Given the description of an element on the screen output the (x, y) to click on. 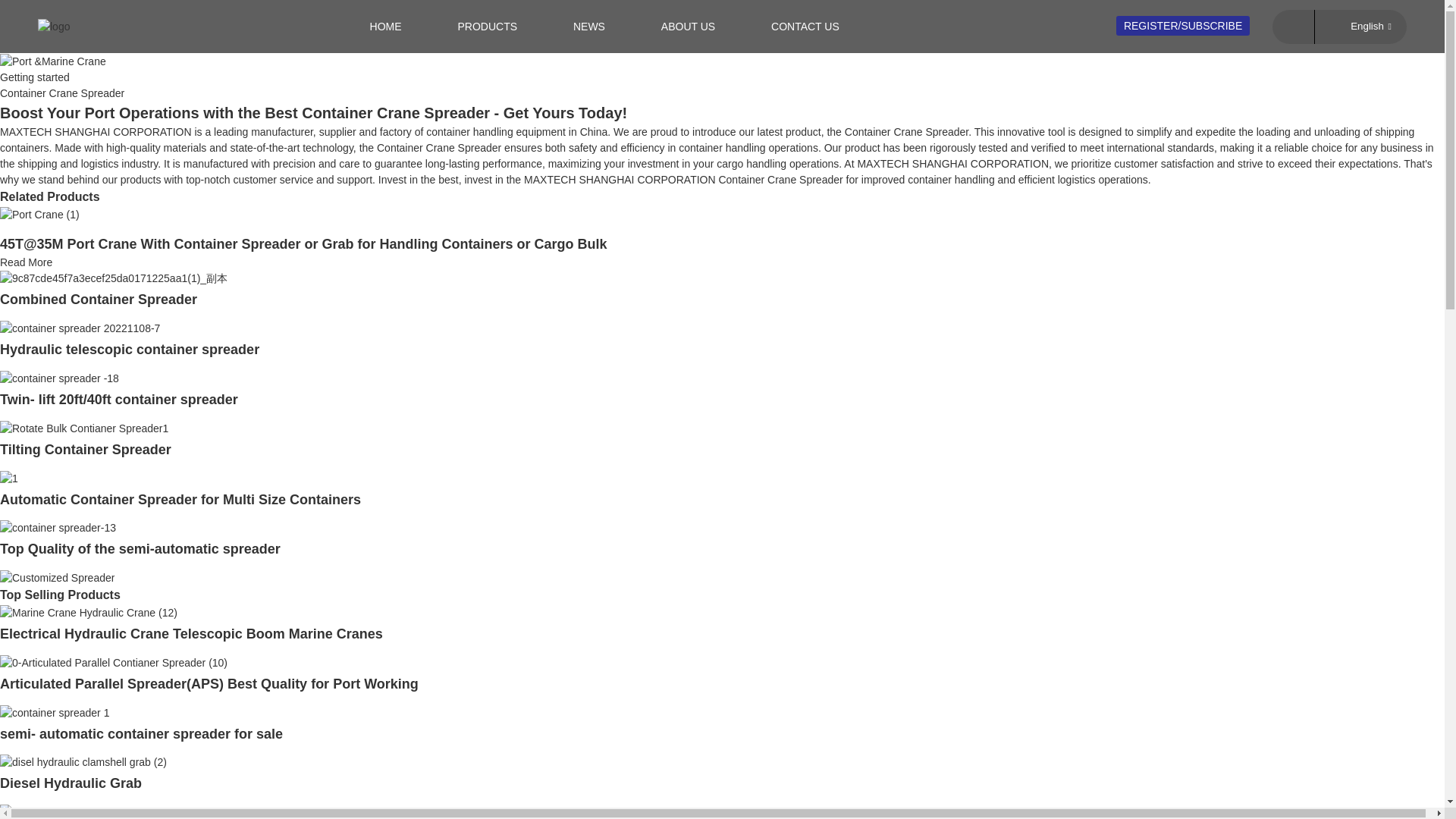
Combined Container Spreader  (98, 299)
PRODUCTS (487, 26)
Tilting Container Spreader (84, 427)
Automatic Container Spreader for Multi Size Containers (8, 477)
Tilting Container Spreader (85, 449)
HOME (385, 26)
Hydraulic telescopic container  spreader (80, 327)
Hydraulic telescopic container  spreader (129, 349)
Automatic Container Spreader for Multi Size Containers (180, 499)
Combined Container Spreader  (113, 277)
